Given the description of an element on the screen output the (x, y) to click on. 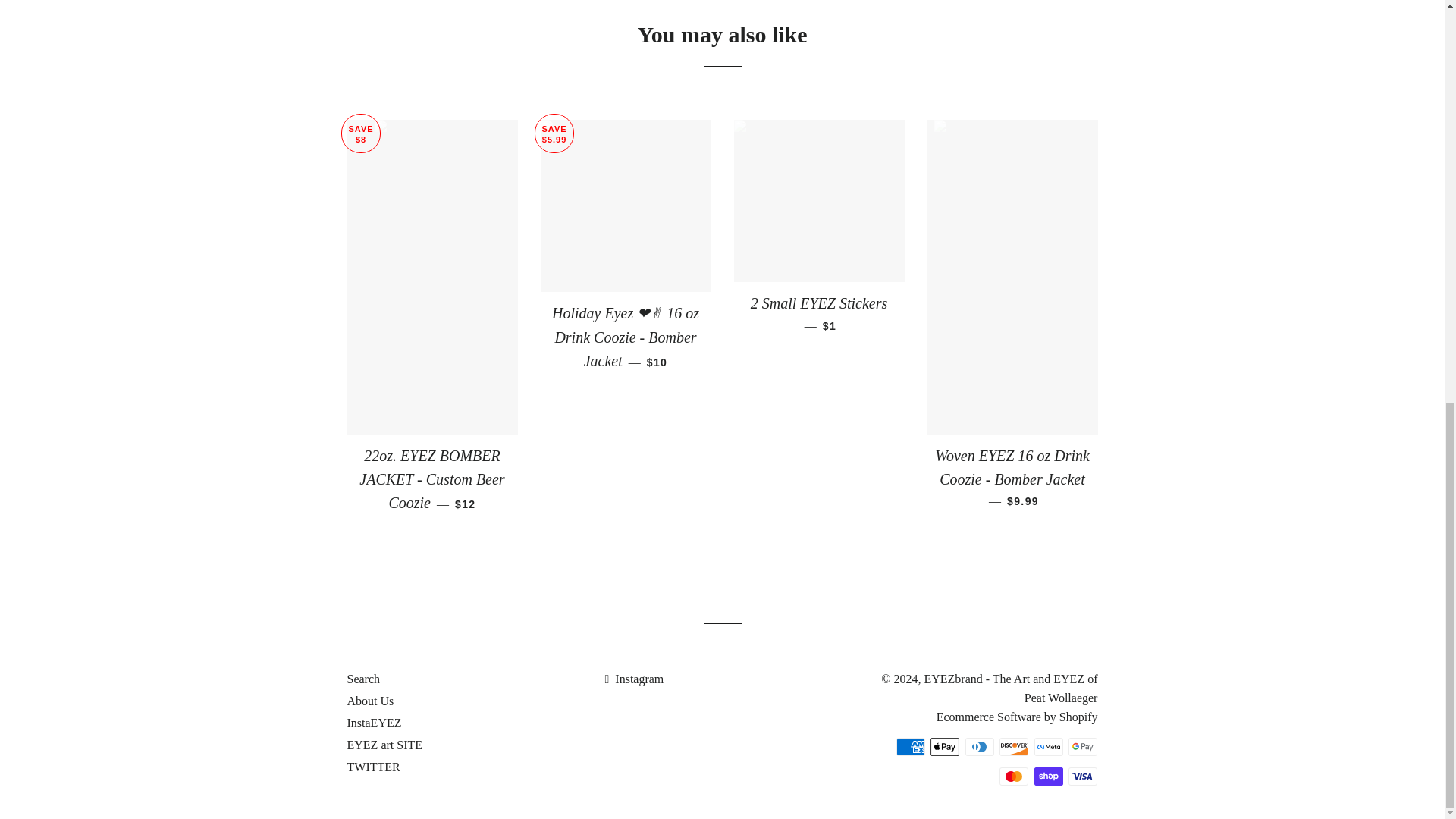
Apple Pay (944, 746)
Meta Pay (1047, 746)
Diners Club (979, 746)
Visa (1082, 776)
Discover (1012, 746)
Shop Pay (1047, 776)
EYEZbrand - The Art and EYEZ of Peat Wollaeger on Instagram (633, 678)
Mastercard (1012, 776)
American Express (910, 746)
Google Pay (1082, 746)
